Given the description of an element on the screen output the (x, y) to click on. 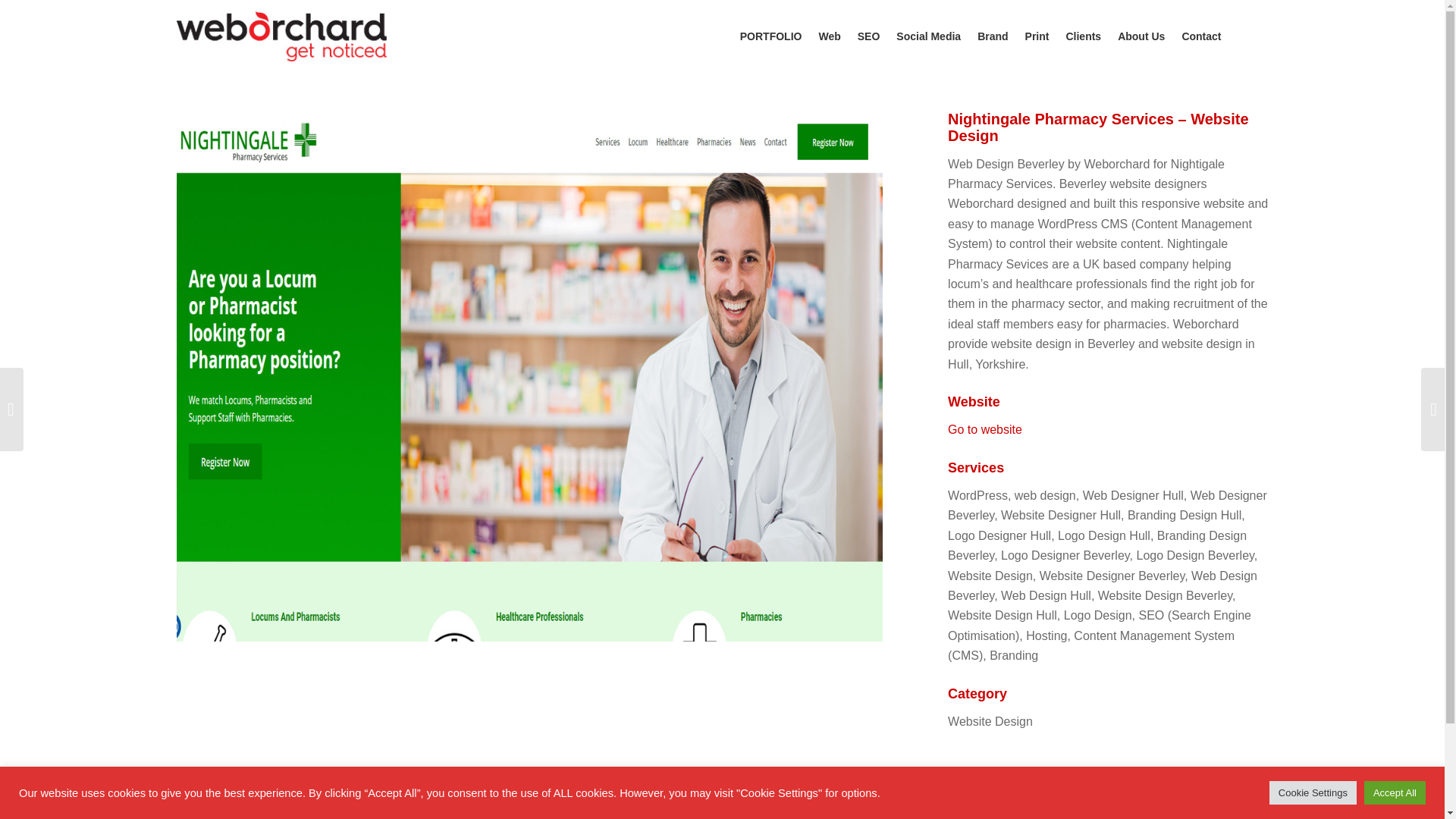
Contact (532, 811)
SEO (279, 811)
SEO (868, 36)
Web (828, 36)
Social Media (327, 811)
Brand (378, 811)
Brand (992, 36)
Web (251, 811)
Print (409, 811)
About Us (1141, 36)
PORTFOLIO (204, 811)
Print (1037, 36)
About Us (486, 811)
wo-logo-invert (281, 36)
Contact (1200, 36)
